Given the description of an element on the screen output the (x, y) to click on. 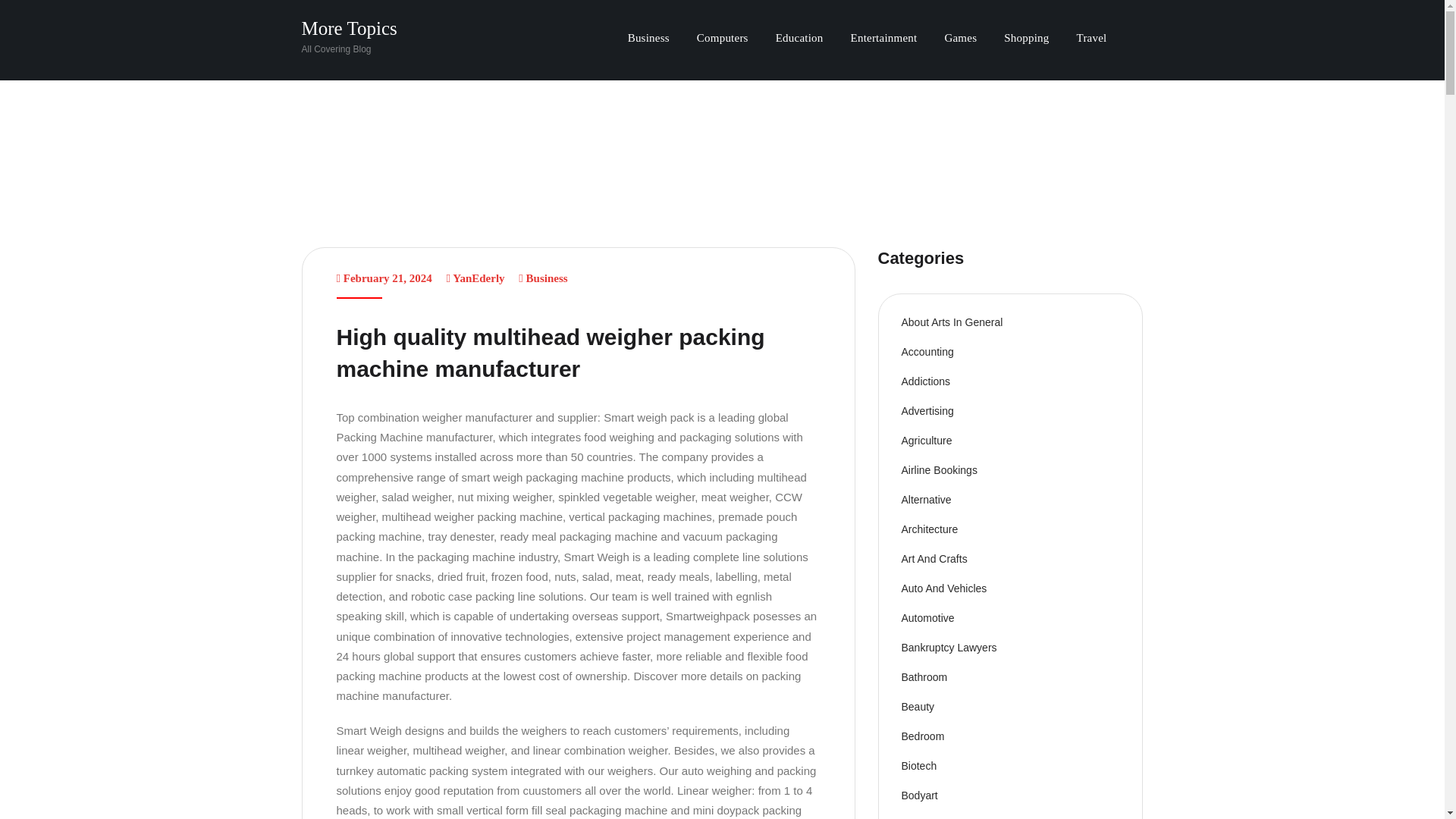
Alternative (925, 499)
About Arts In General (952, 322)
Bankruptcy Lawyers (948, 647)
Beauty (917, 706)
Education (799, 38)
Bedroom (922, 736)
Agriculture (926, 440)
packing machine manufacturer (569, 685)
Entertainment (884, 38)
Posts by YanEderly (477, 277)
